Given the description of an element on the screen output the (x, y) to click on. 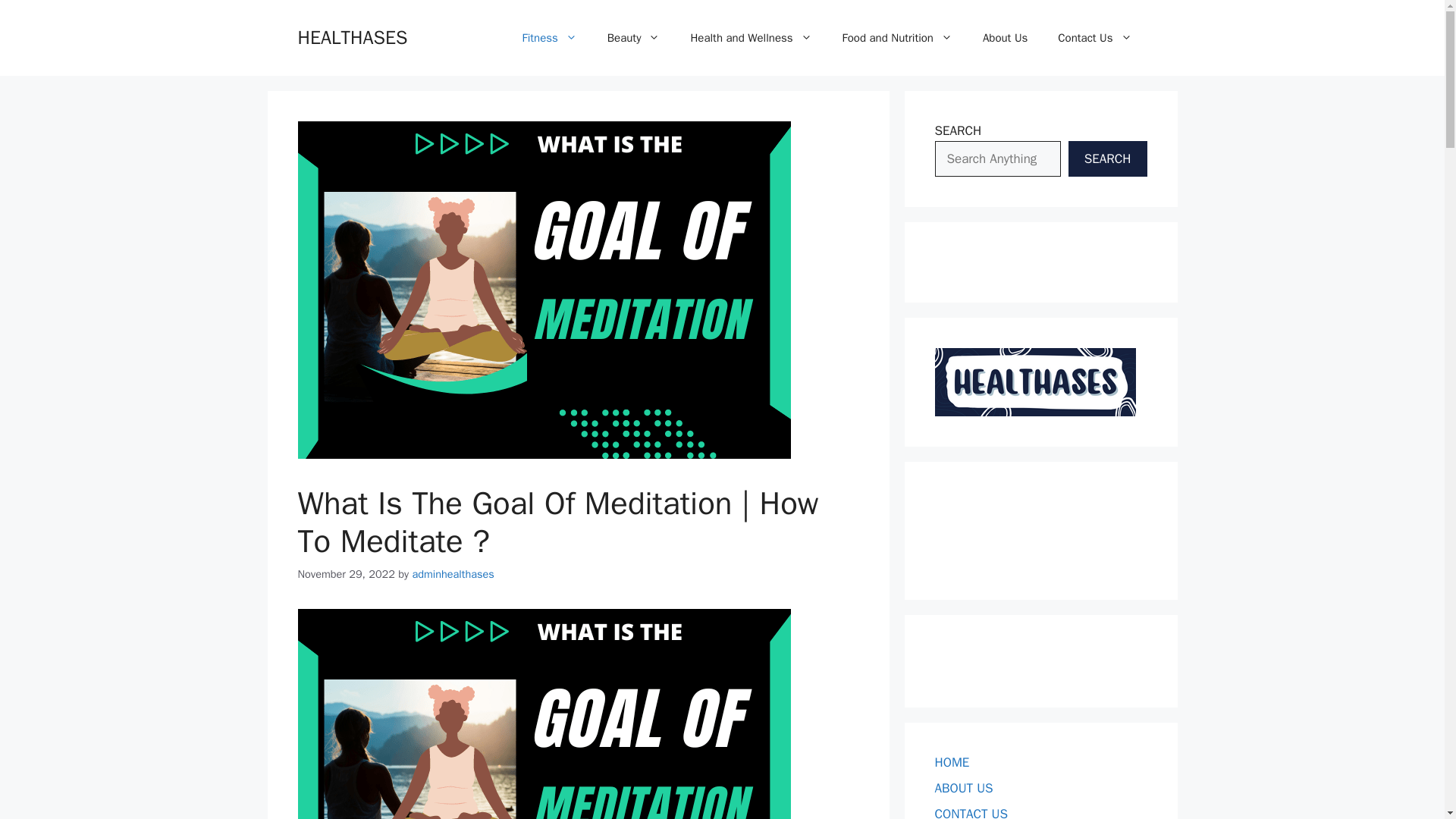
View all posts by adminhealthases (452, 573)
HEALTHASES (352, 37)
Food and Nutrition (897, 37)
About Us (1005, 37)
Contact Us (1094, 37)
Health and Wellness (751, 37)
Beauty (633, 37)
Fitness (548, 37)
adminhealthases (452, 573)
